Given the description of an element on the screen output the (x, y) to click on. 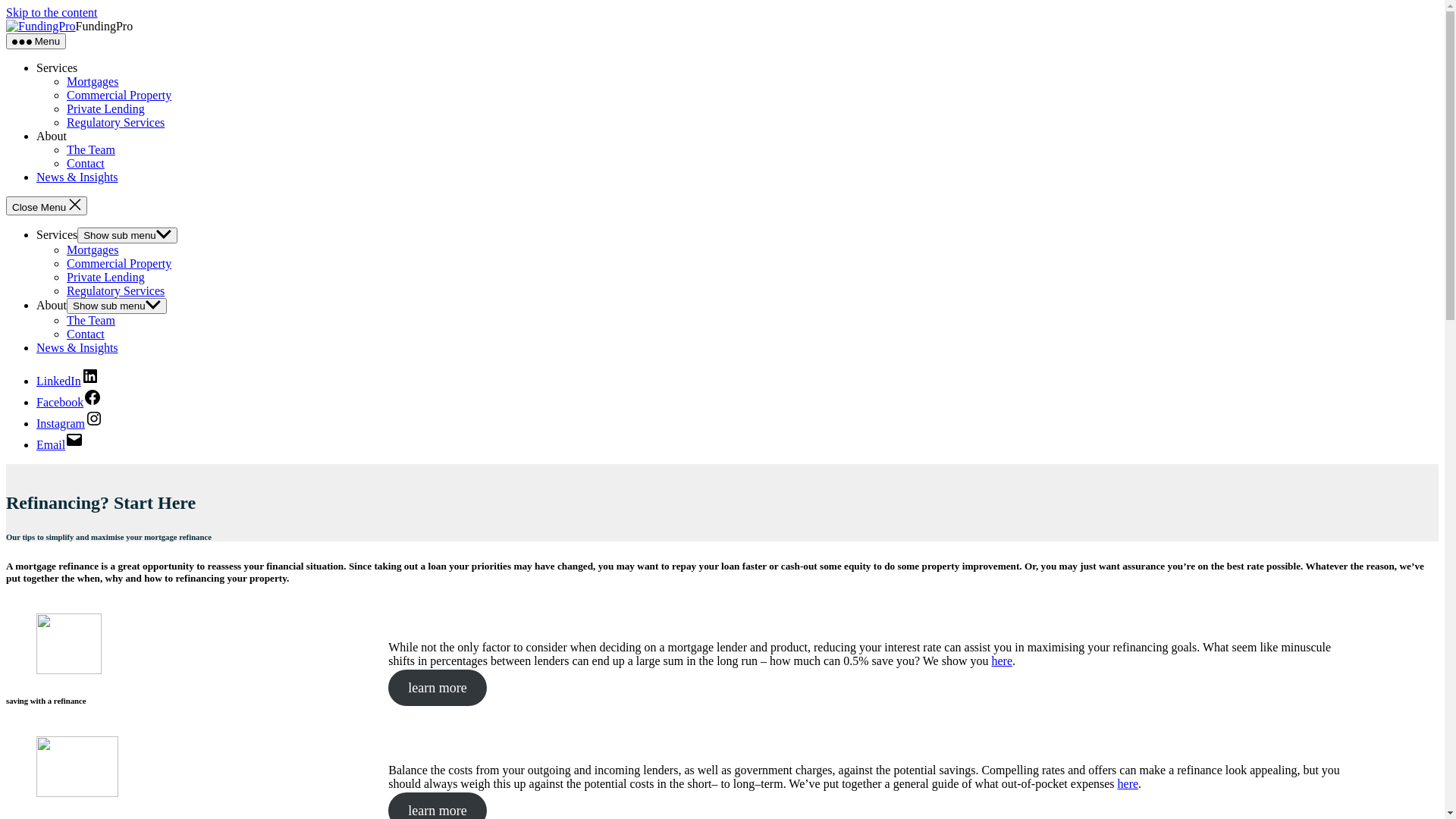
Skip to the content Element type: text (51, 12)
Show sub menu Element type: text (127, 235)
Private Lending Element type: text (105, 108)
Contact Element type: text (85, 333)
Mortgages Element type: text (92, 81)
Commercial Property Element type: text (118, 263)
Regulatory Services Element type: text (117, 122)
Email Element type: text (59, 444)
Services Element type: text (56, 67)
Contact Element type: text (85, 162)
The Team Element type: text (90, 319)
Services Element type: text (56, 234)
Close Menu Element type: text (46, 205)
About Element type: text (51, 304)
here Element type: text (1128, 783)
Mortgages Element type: text (92, 249)
Instagram Element type: text (69, 423)
Show sub menu Element type: text (116, 305)
Facebook Element type: text (68, 401)
About Element type: text (51, 135)
News & Insights Element type: text (77, 347)
News & Insights Element type: text (77, 176)
learn more Element type: text (437, 687)
here Element type: text (1002, 660)
Regulatory Services Element type: text (117, 290)
LinkedIn Element type: text (67, 380)
Menu Element type: text (35, 41)
The Team Element type: text (90, 149)
Commercial Property Element type: text (118, 94)
Private Lending Element type: text (105, 276)
